Given the description of an element on the screen output the (x, y) to click on. 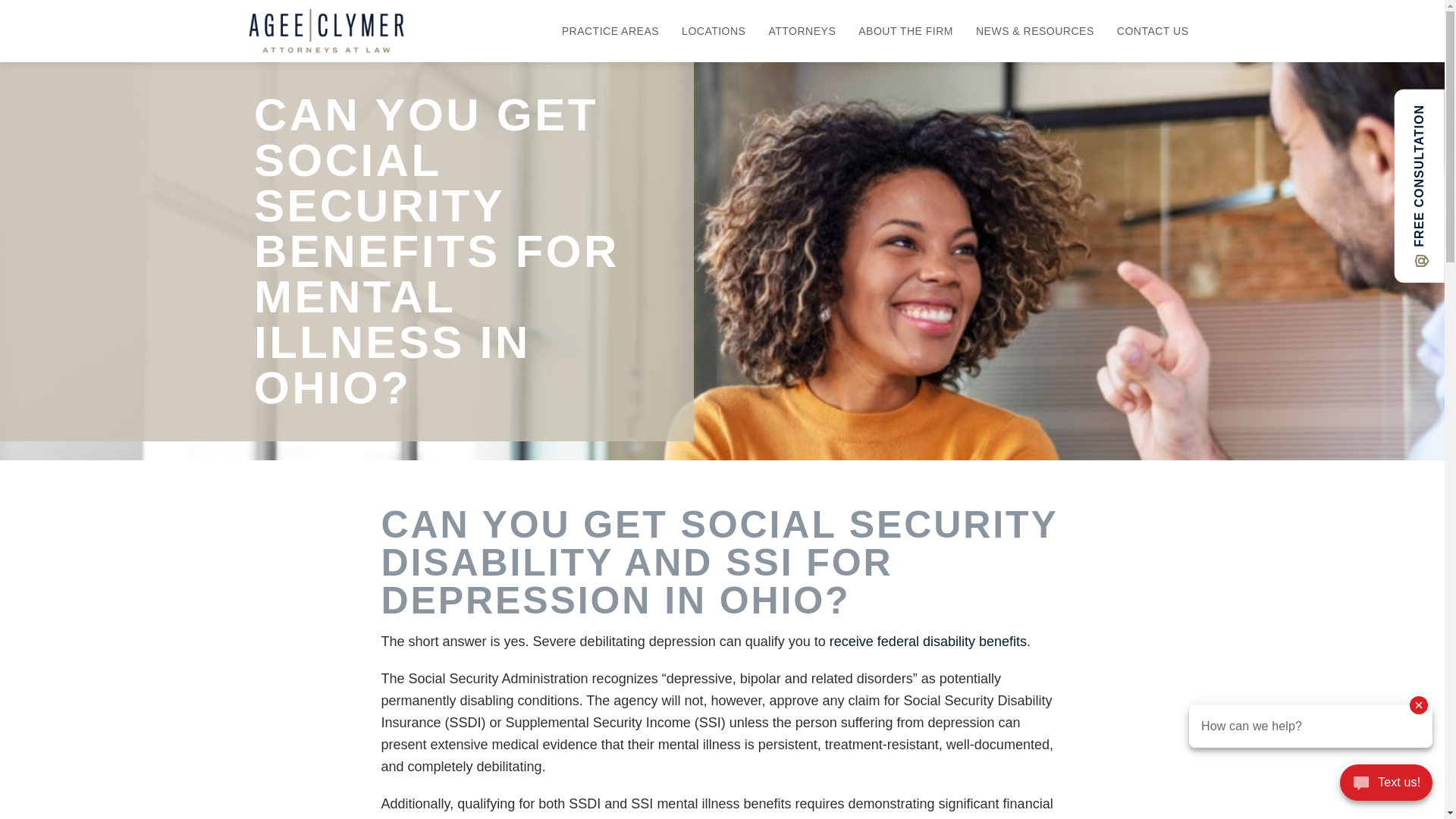
receive federal disability benefits (927, 641)
PRACTICE AREAS (610, 31)
ATTORNEYS (801, 31)
ABOUT THE FIRM (905, 31)
CONTACT US (1152, 31)
LOCATIONS (713, 31)
Agee Clymer (326, 31)
